Given the description of an element on the screen output the (x, y) to click on. 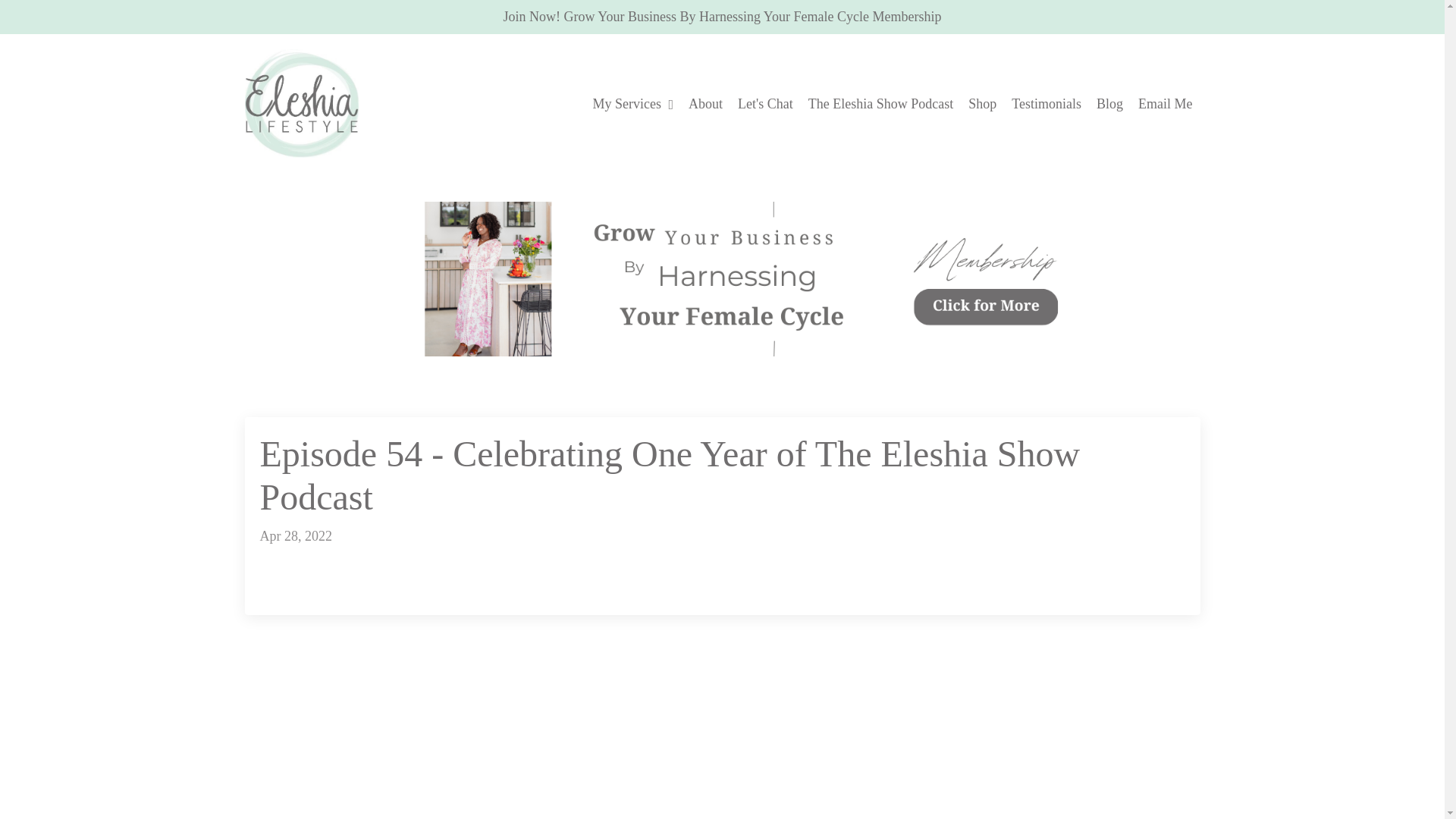
Blog (1109, 104)
Email Me (1165, 104)
About (705, 104)
The Eleshia Show Podcast (880, 104)
Testimonials (1046, 104)
Shop (981, 104)
Let's Chat (765, 104)
My Services (632, 104)
